Given the description of an element on the screen output the (x, y) to click on. 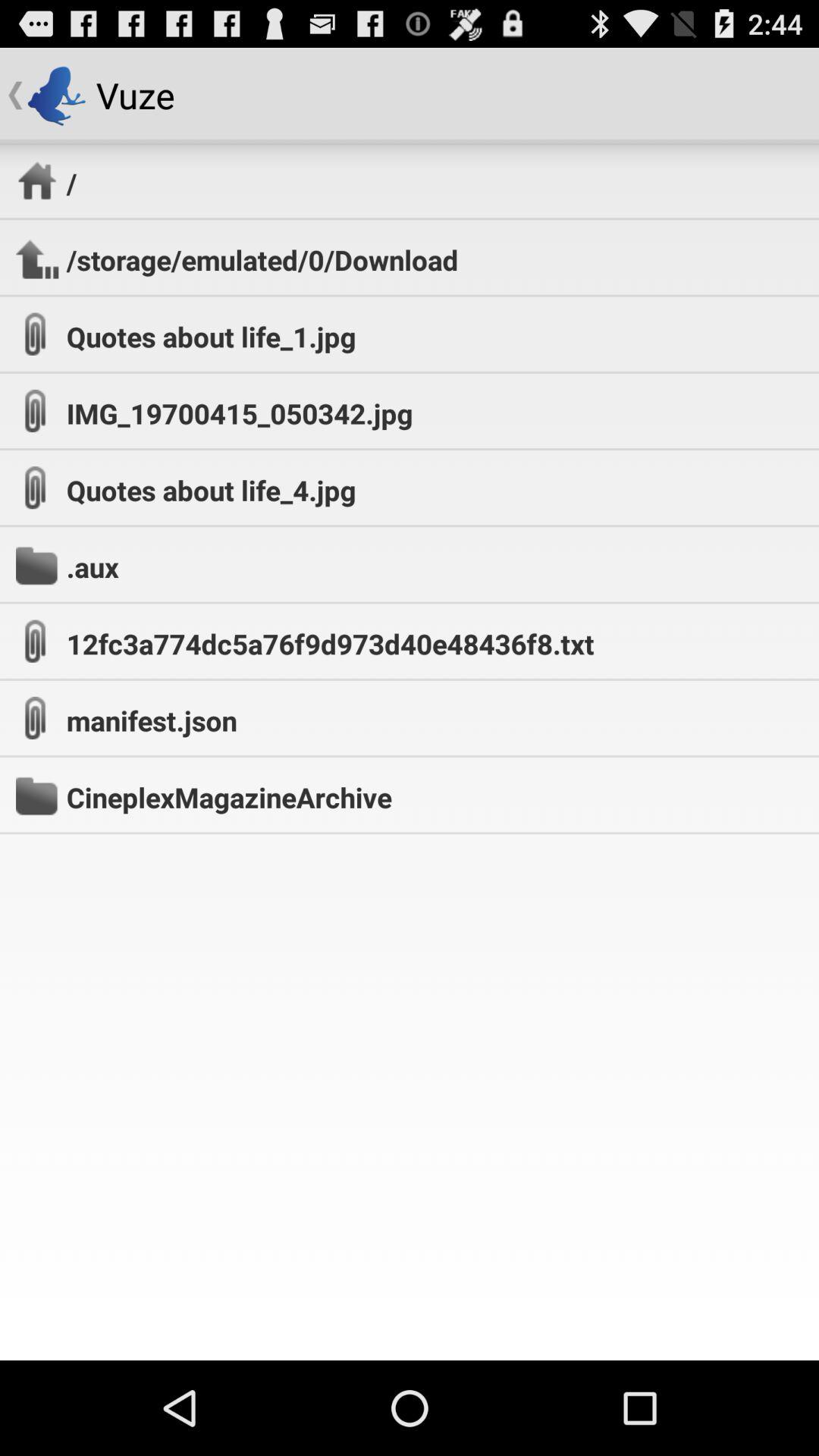
scroll to the / (71, 182)
